Given the description of an element on the screen output the (x, y) to click on. 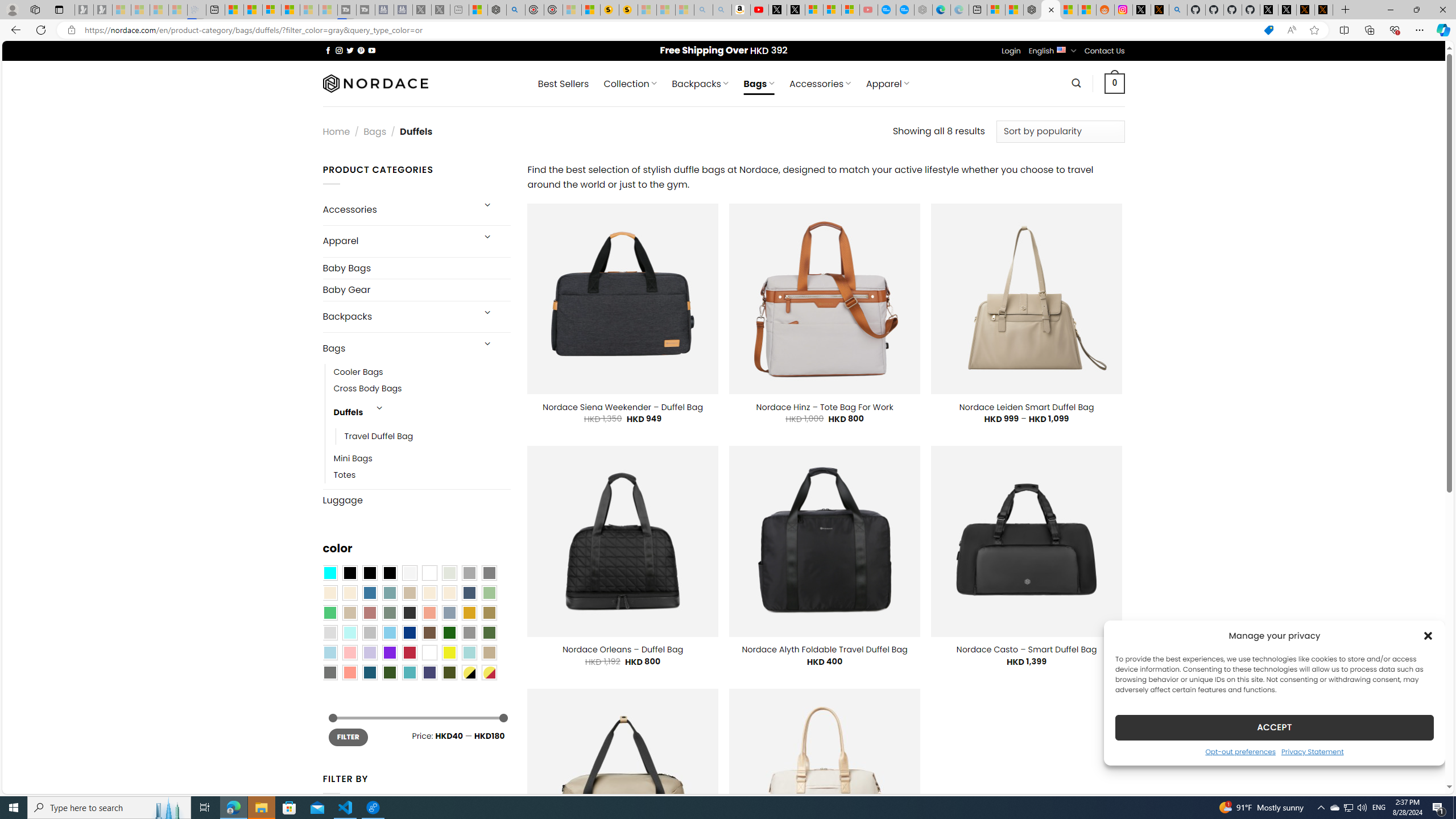
X - Sleeping (440, 9)
Nordace - Duffels (1050, 9)
Red (408, 652)
Mini Bags (422, 458)
Gloom - YouTube - Sleeping (868, 9)
Brown (429, 632)
Luggage (416, 500)
